Given the description of an element on the screen output the (x, y) to click on. 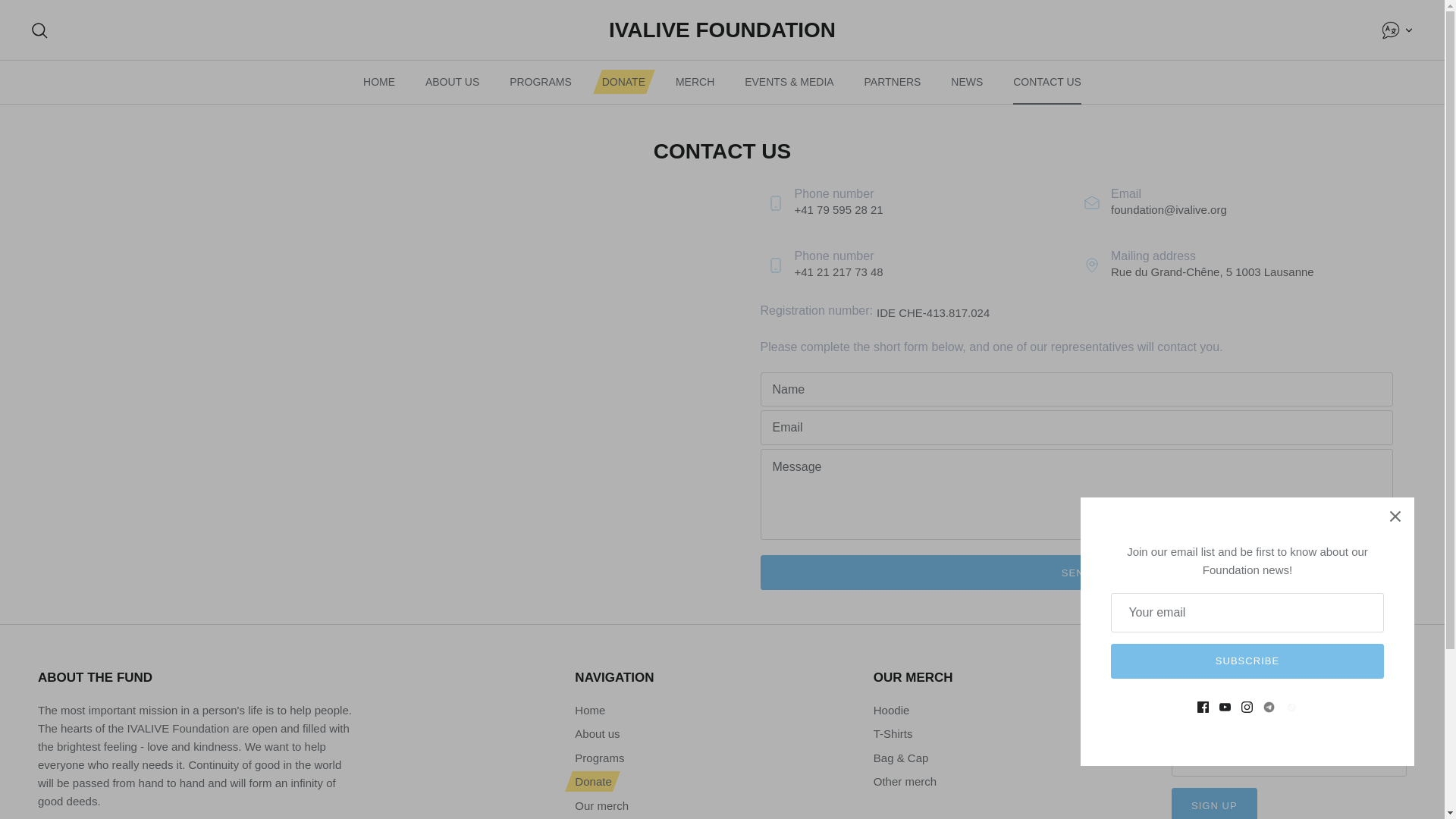
PROGRAMS (540, 82)
IVALIVE FOUNDATION (721, 30)
IvAlive Foundation (721, 30)
NEWS (966, 82)
CONTACT US (1046, 82)
DONATE (623, 82)
PARTNERS (892, 82)
Down (1408, 30)
Down (1397, 30)
MERCH (695, 82)
Search (39, 30)
ABOUT US (452, 82)
HOME (379, 82)
